Given the description of an element on the screen output the (x, y) to click on. 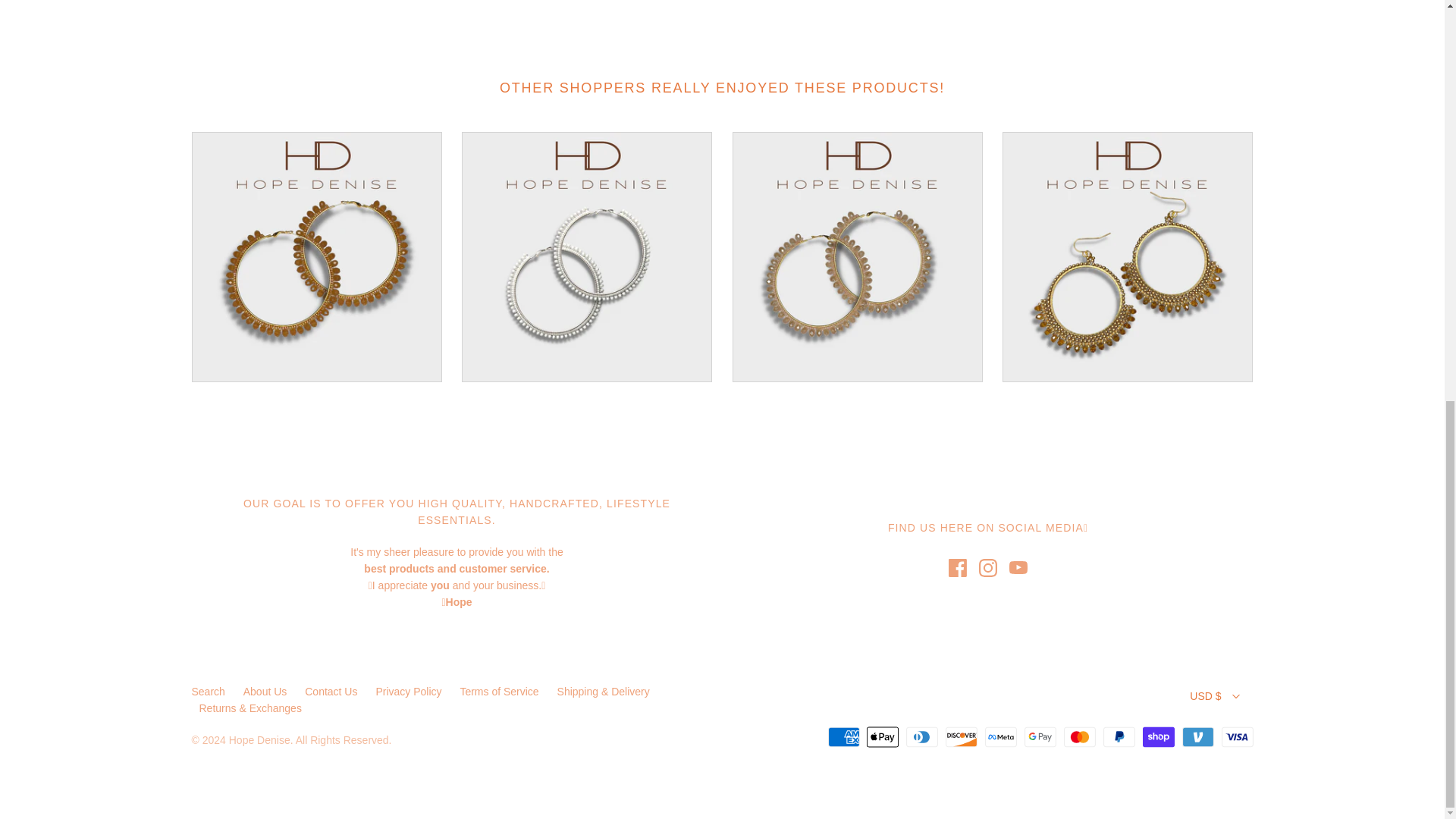
Discover (960, 736)
Apple Pay (882, 736)
Diners Club (921, 736)
American Express (844, 736)
Google Pay (1041, 736)
Meta Pay (1000, 736)
